Given the description of an element on the screen output the (x, y) to click on. 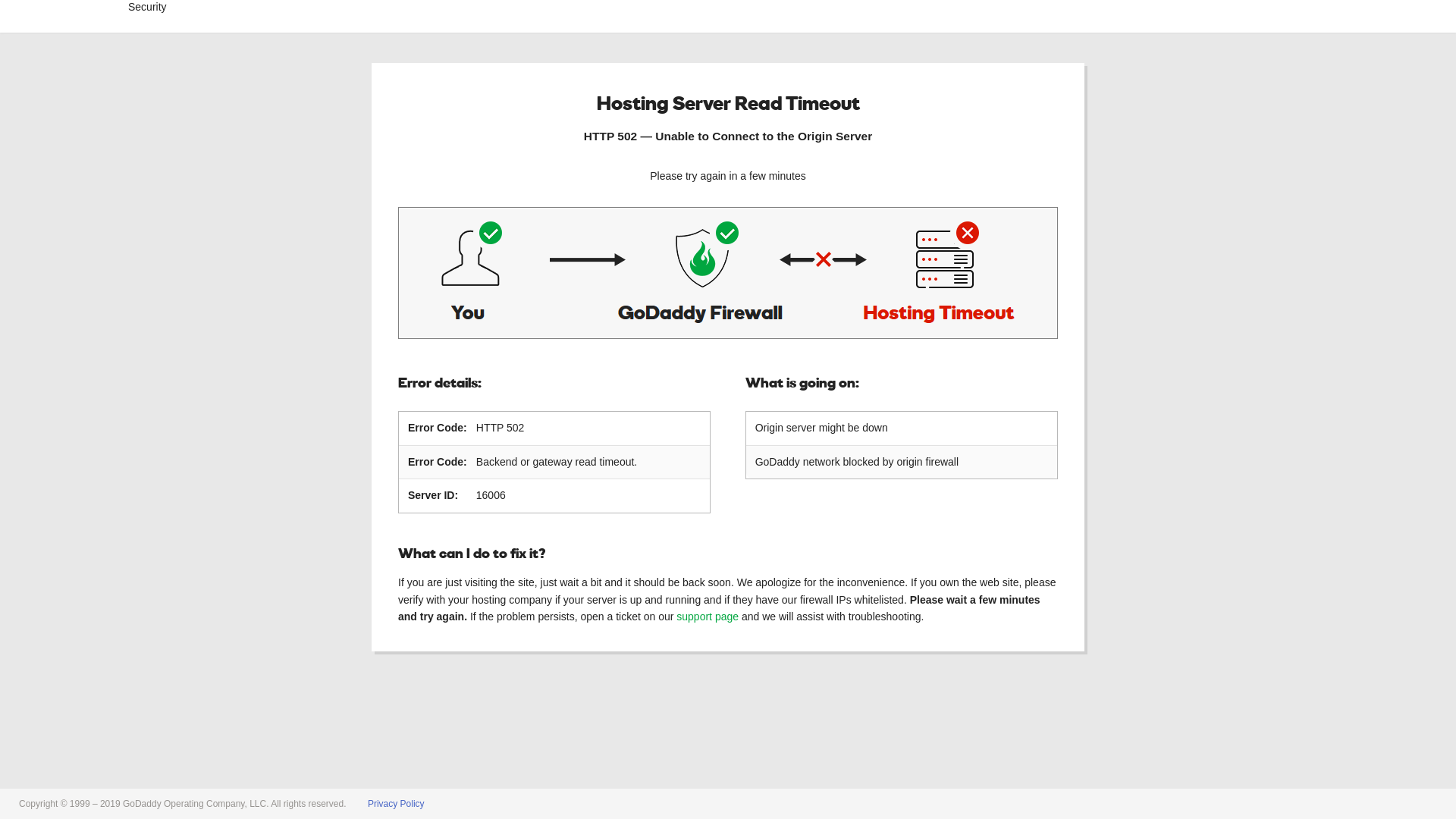
support page Element type: text (707, 616)
Privacy Policy Element type: text (395, 803)
